Given the description of an element on the screen output the (x, y) to click on. 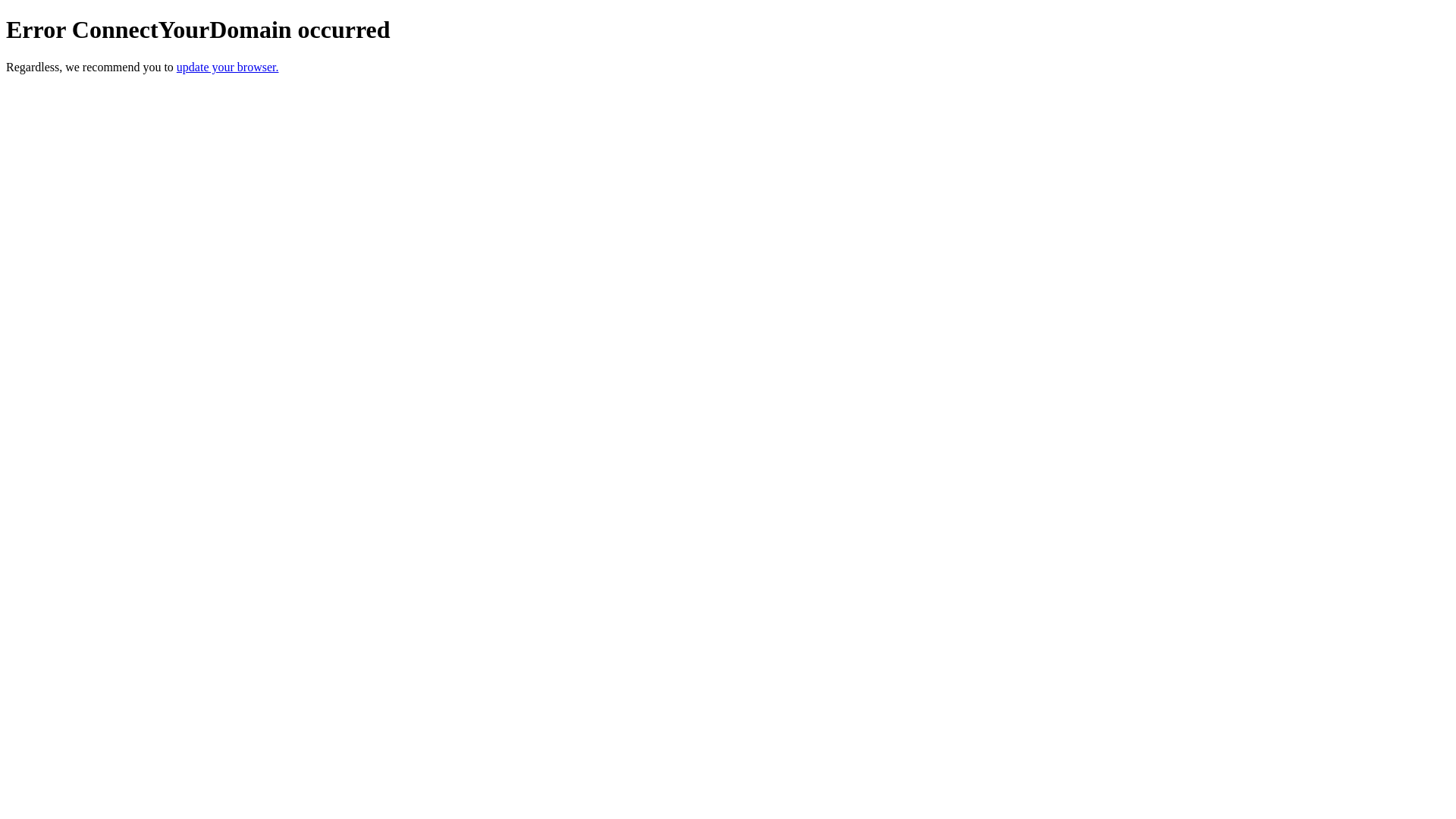
update your browser. Element type: text (227, 66)
